Given the description of an element on the screen output the (x, y) to click on. 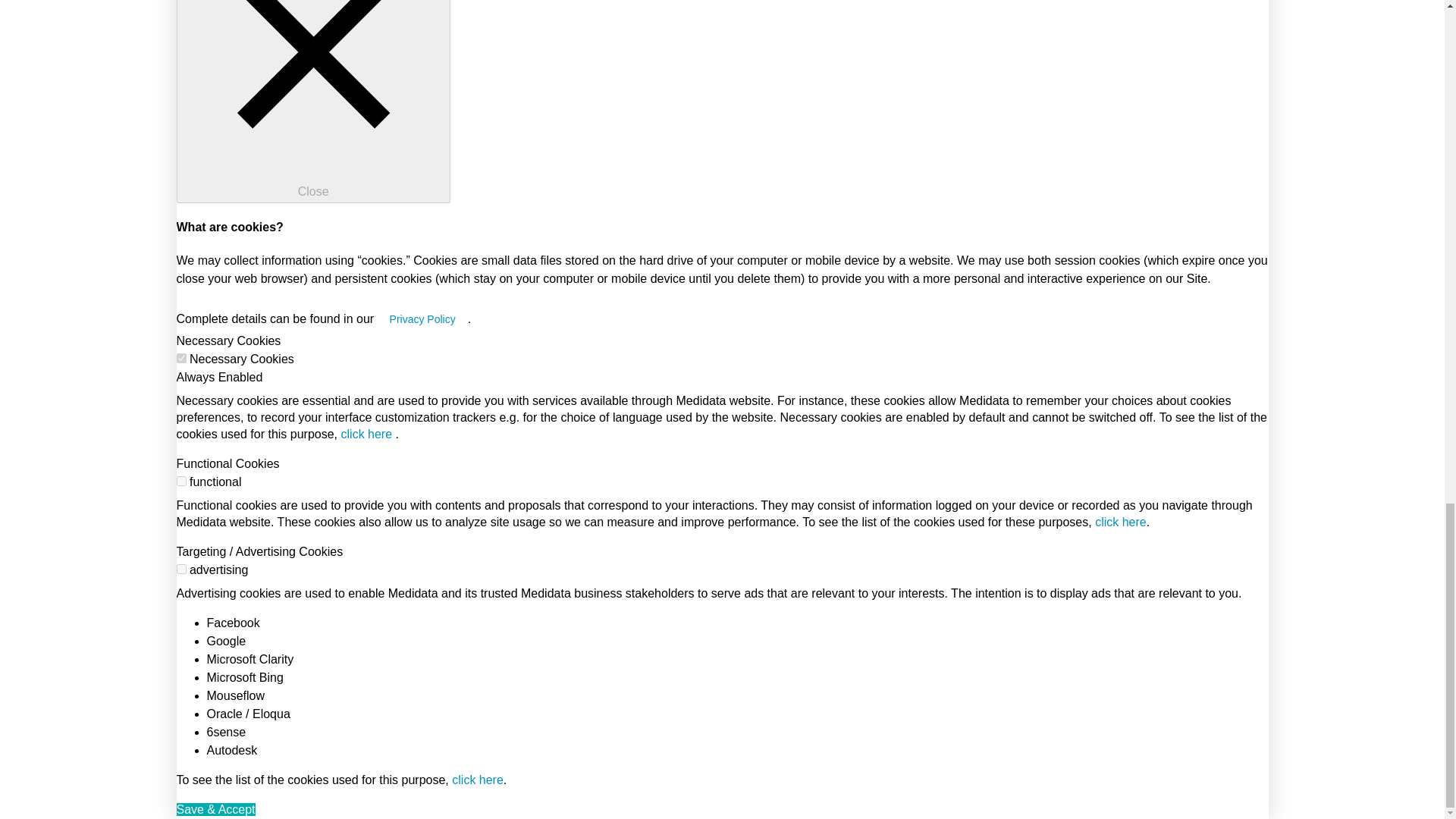
on (181, 569)
on (181, 480)
on (181, 357)
